Given the description of an element on the screen output the (x, y) to click on. 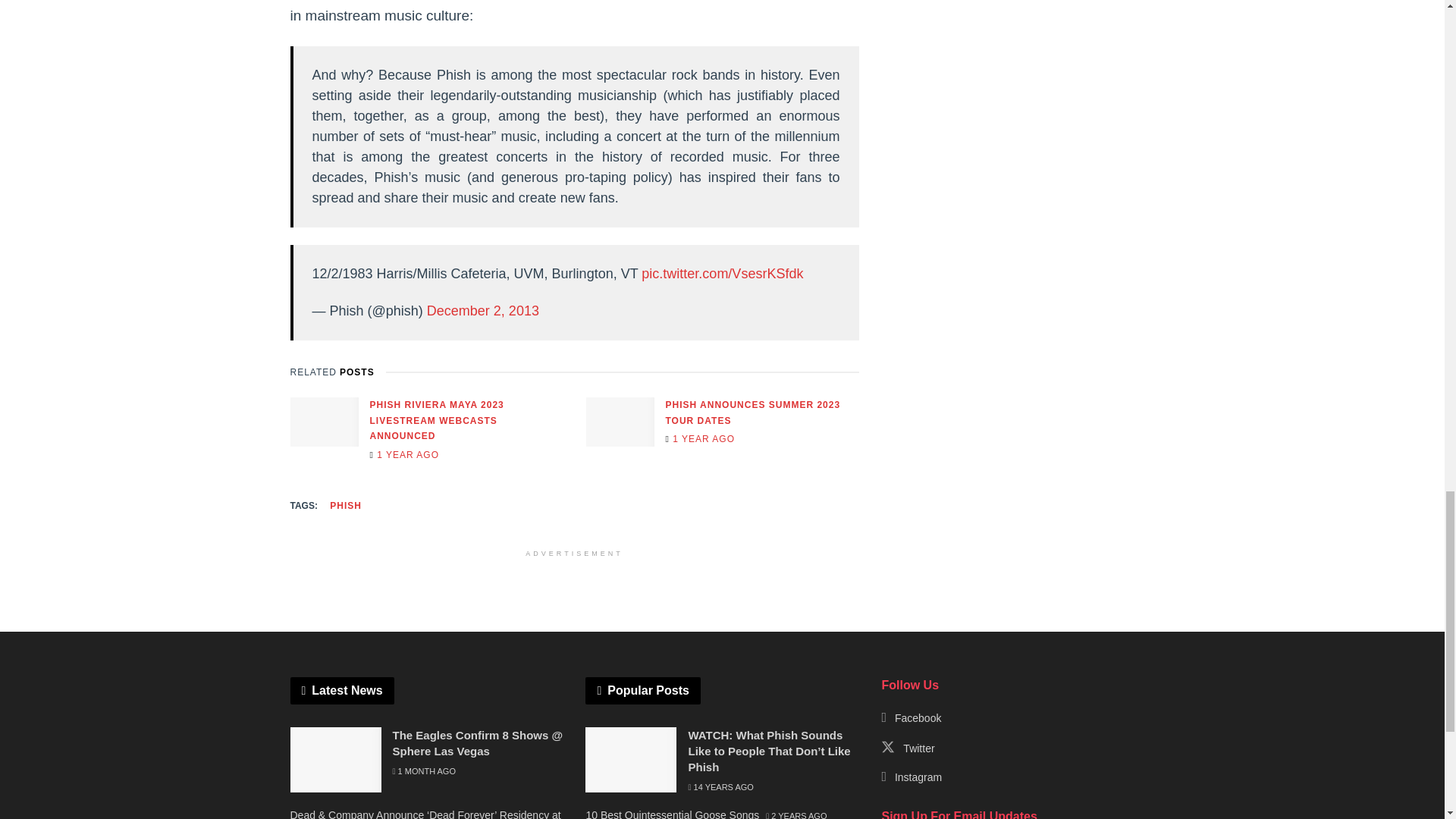
1 YEAR AGO (404, 454)
PHISH RIVIERA MAYA 2023 LIVESTREAM WEBCASTS ANNOUNCED (436, 420)
PHISH (345, 505)
December 2, 2013 (482, 310)
1 YEAR AGO (700, 439)
PHISH ANNOUNCES SUMMER 2023 TOUR DATES (753, 412)
